Given the description of an element on the screen output the (x, y) to click on. 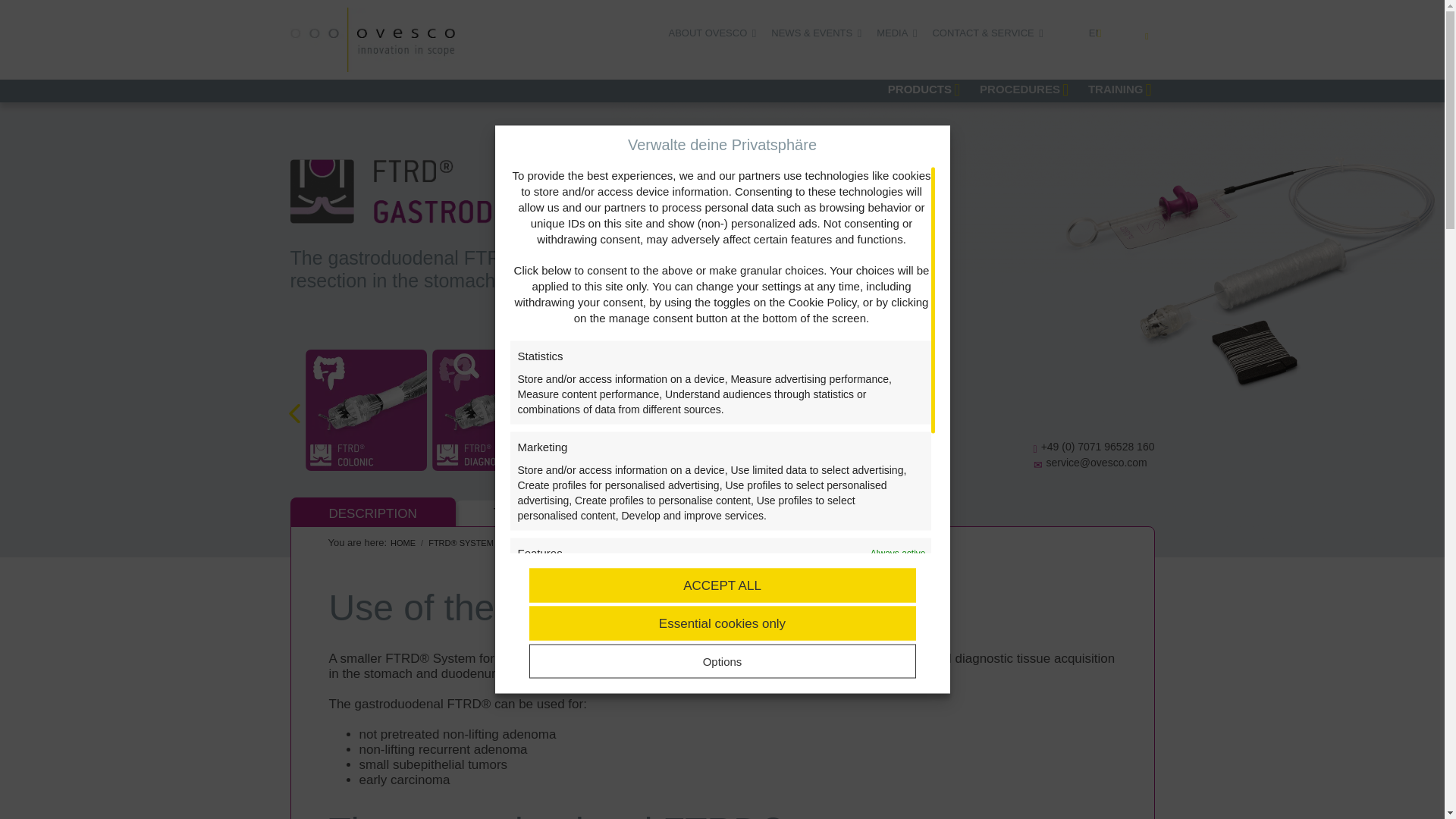
Options (722, 661)
Essential cookies only (722, 623)
ABOUT OVESCO (708, 33)
ACCEPT ALL (722, 585)
MEDIA (891, 33)
ENGLISH (1102, 32)
Ovesco Endoscopy AG (371, 38)
